Given the description of an element on the screen output the (x, y) to click on. 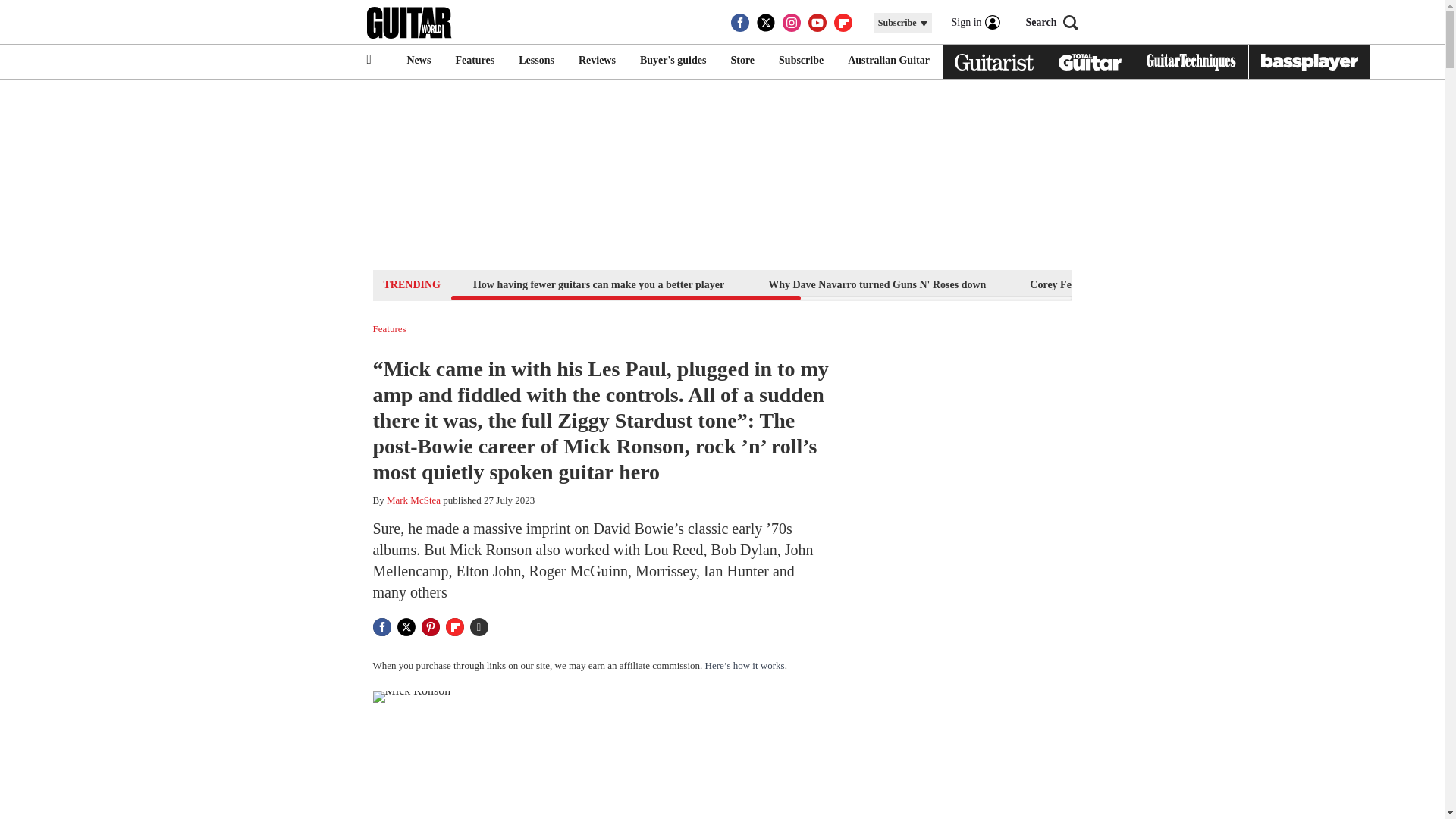
Subscribe (801, 60)
Why Dave Navarro turned Guns N' Roses down (876, 284)
Reviews (596, 60)
Lessons (536, 60)
Mark McStea (414, 500)
How having fewer guitars can make you a better player (598, 284)
Corey Feldman hopes his viral solos will inspire (1137, 284)
Australian Guitar (888, 60)
Features (389, 327)
News (418, 60)
